Given the description of an element on the screen output the (x, y) to click on. 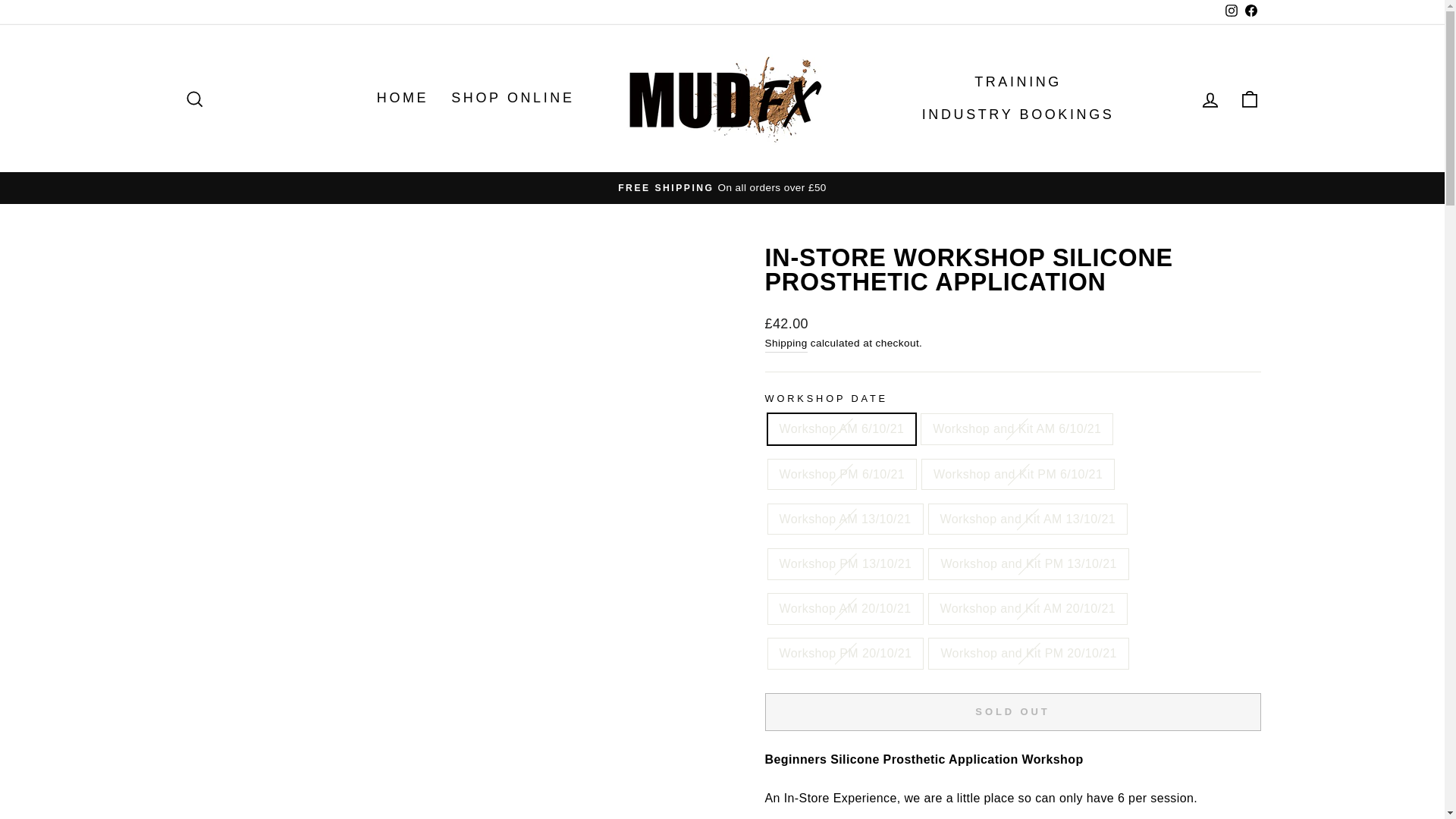
TRAINING (1017, 81)
CART (1249, 98)
SOLD OUT (1012, 711)
HOME (402, 98)
Shipping (785, 343)
INDUSTRY BOOKINGS (1018, 114)
LOG IN (1210, 98)
SHOP ONLINE (512, 98)
SEARCH (194, 98)
